Given the description of an element on the screen output the (x, y) to click on. 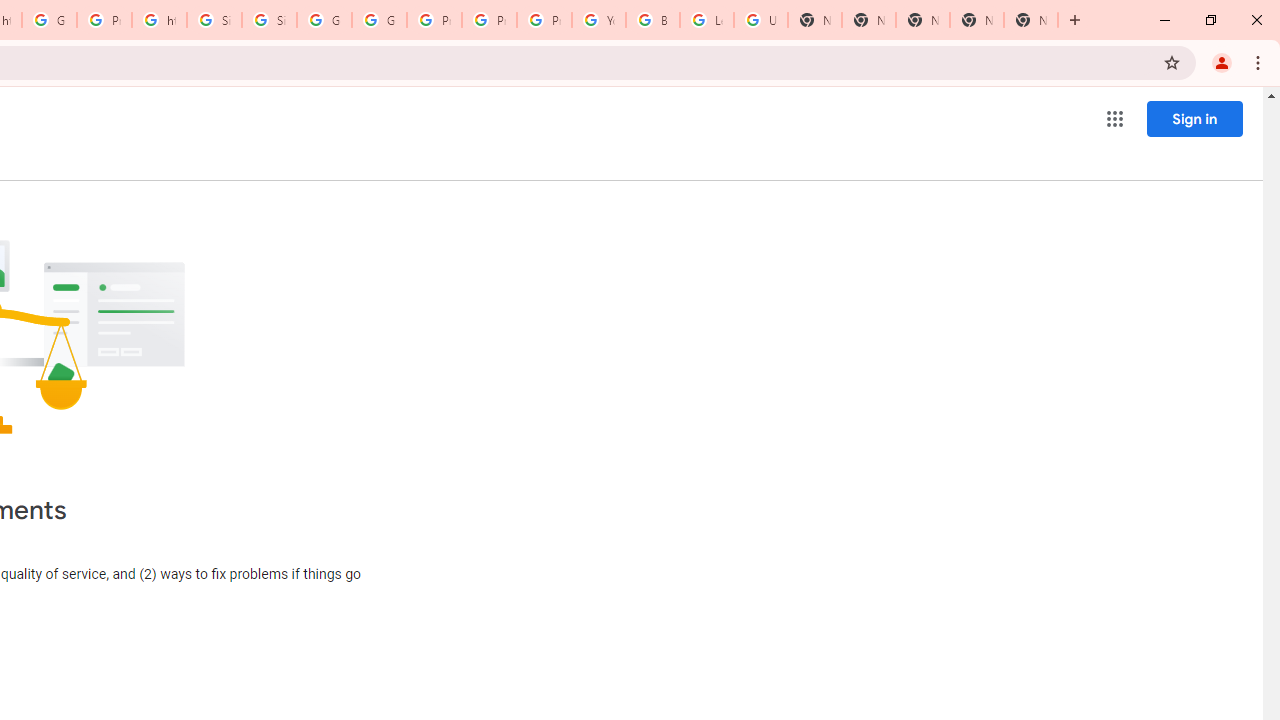
Sign in - Google Accounts (268, 20)
YouTube (598, 20)
New Tab (922, 20)
